Given the description of an element on the screen output the (x, y) to click on. 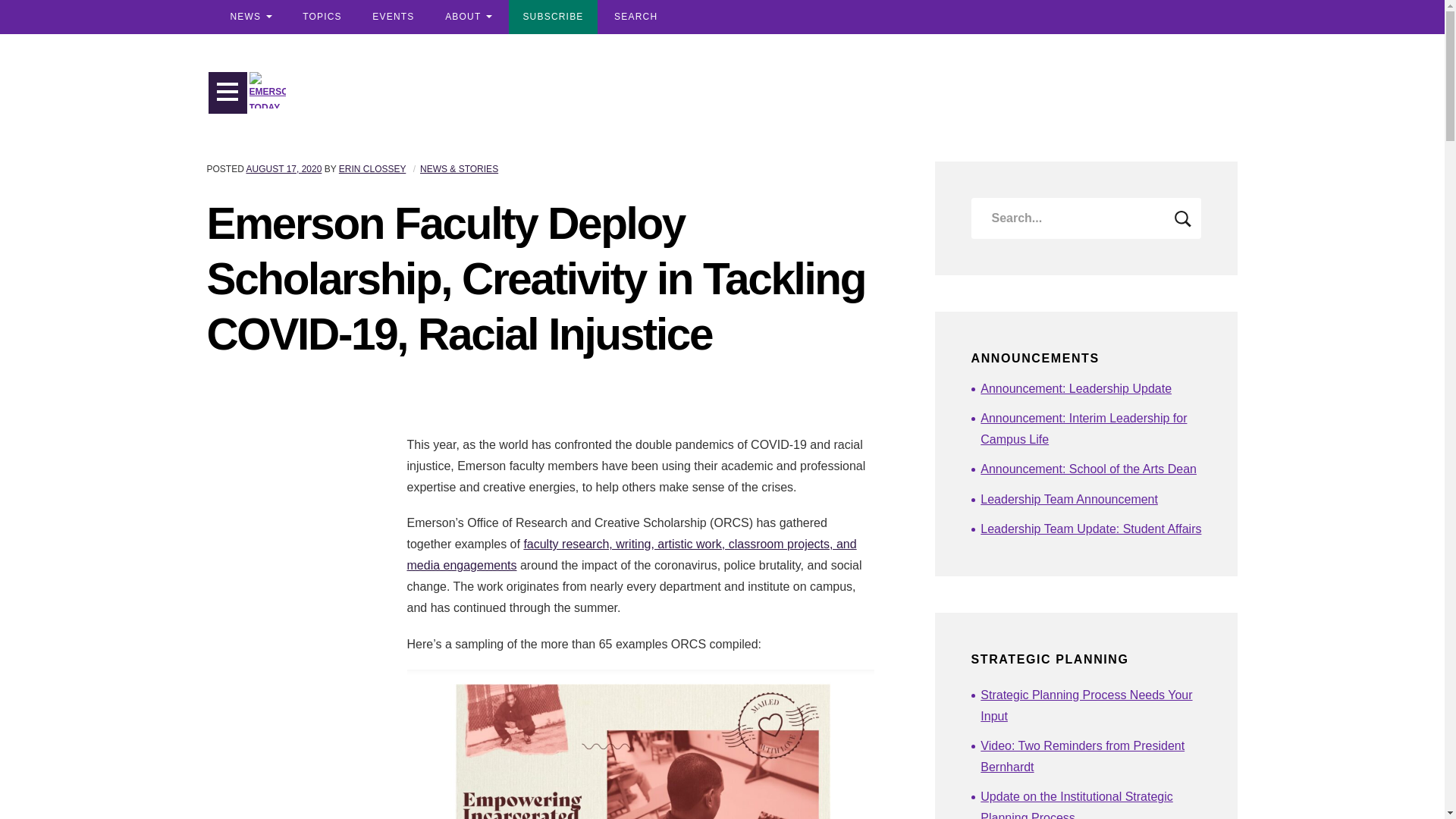
NEWS (250, 17)
TOPICS (321, 17)
EVENTS (393, 17)
SUBSCRIBE (552, 17)
ERIN CLOSSEY (372, 168)
AUGUST 17, 2020 (283, 168)
OPEN MENU OVERLAY (227, 92)
ABOUT (467, 17)
SEARCH (635, 17)
